Given the description of an element on the screen output the (x, y) to click on. 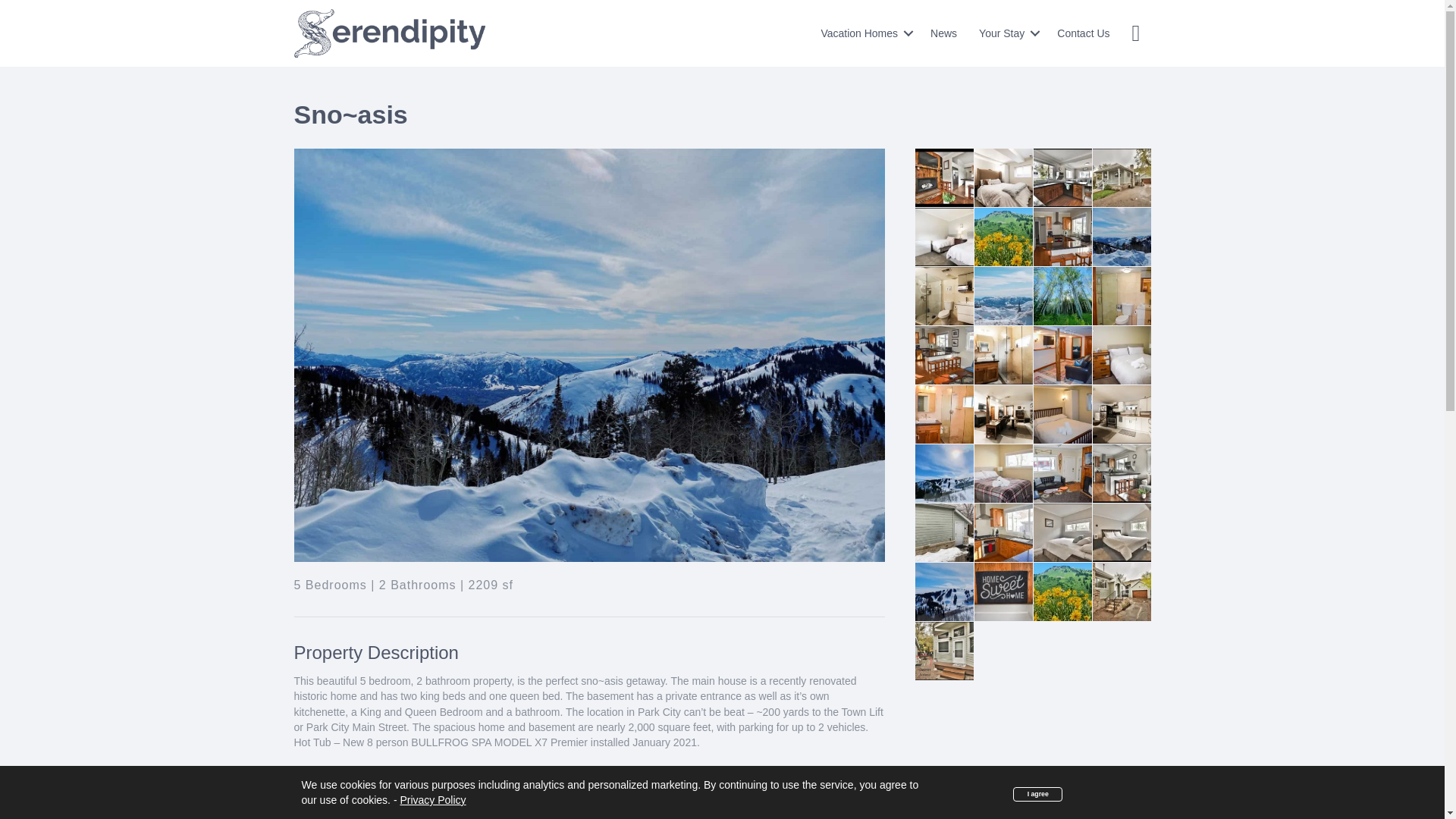
Contact Us (1082, 33)
Processed with VSCO with g6 preset (1003, 237)
Processed with VSCO with c8 preset (1003, 295)
sno-asis4 (943, 354)
Processed with VSCO with l4 preset (1061, 295)
sno-asis1 (1061, 237)
Processed with VSCO with ku1 preset (1121, 237)
Serendipity-Logo-blue (390, 33)
Vacation Homes (863, 33)
sno-asis10 (1121, 295)
Your Stay (1006, 33)
sno-asis9 (1061, 354)
News (944, 33)
